Given the description of an element on the screen output the (x, y) to click on. 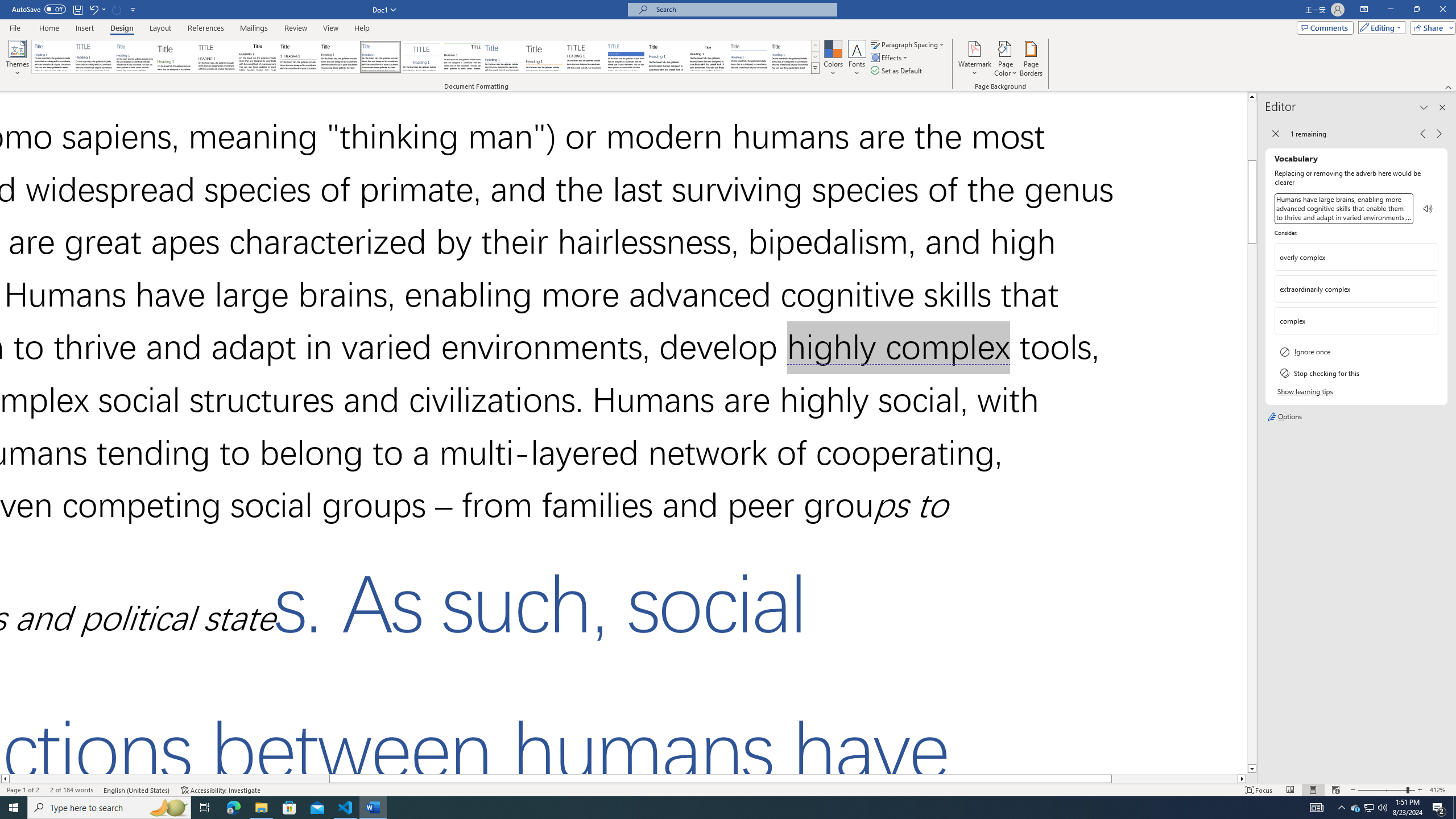
Page right (1174, 778)
Editing (1379, 27)
Basic (Simple) (135, 56)
Collapse the Ribbon (1448, 86)
Minimize (1390, 9)
Lines (Distinctive) (462, 56)
Save (77, 9)
Undo Outline Move Up (96, 9)
Ignore once (1356, 351)
Close pane (1441, 107)
Centered (421, 56)
Zoom Out (1382, 790)
Mailings (253, 28)
Microsoft search (742, 9)
Page left (169, 778)
